Given the description of an element on the screen output the (x, y) to click on. 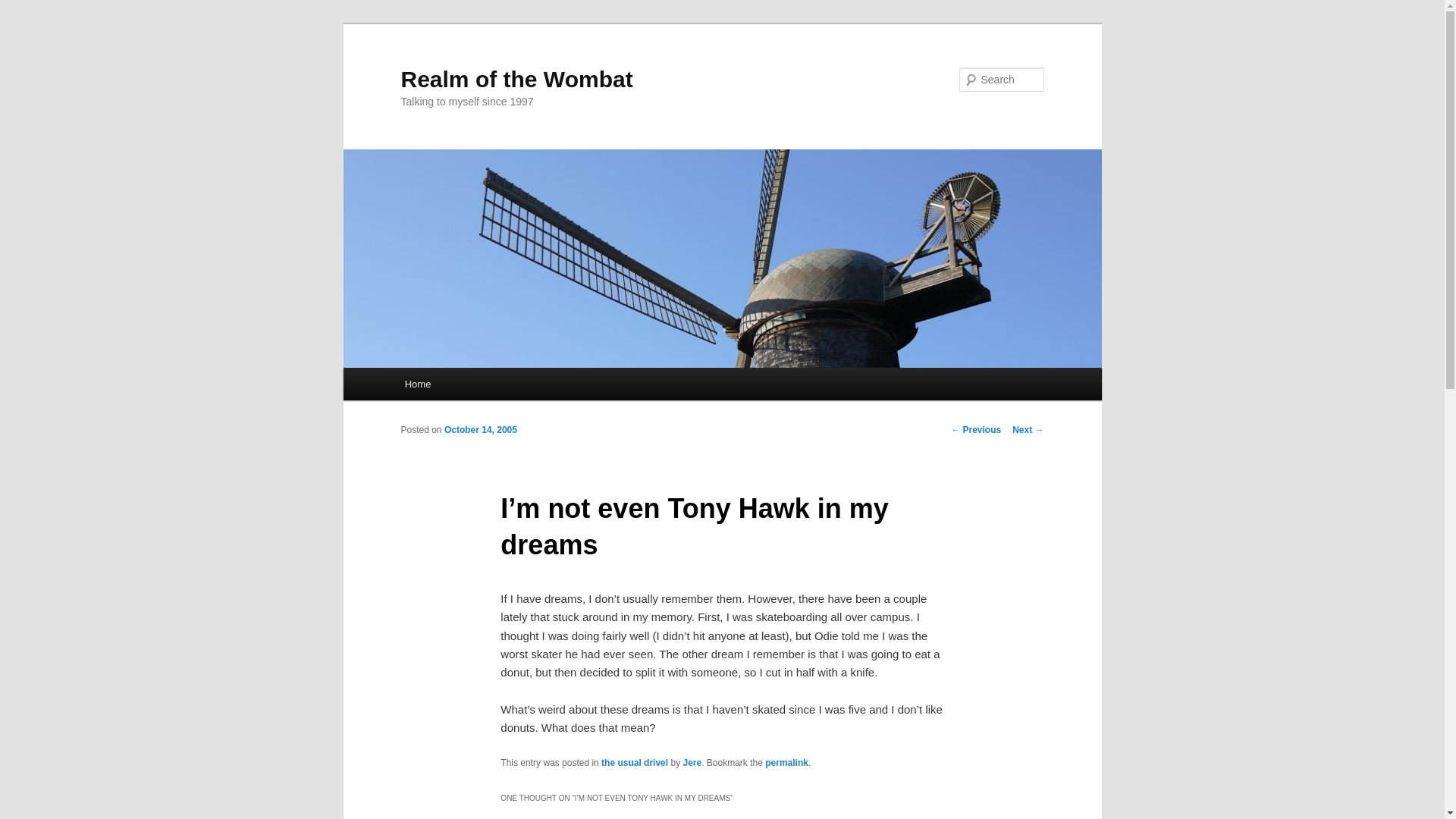
Search (24, 8)
10:50 am (480, 429)
October 14, 2005 (480, 429)
Home (417, 383)
Jere (691, 762)
permalink (786, 762)
Realm of the Wombat (515, 78)
the usual drivel (634, 762)
